Given the description of an element on the screen output the (x, y) to click on. 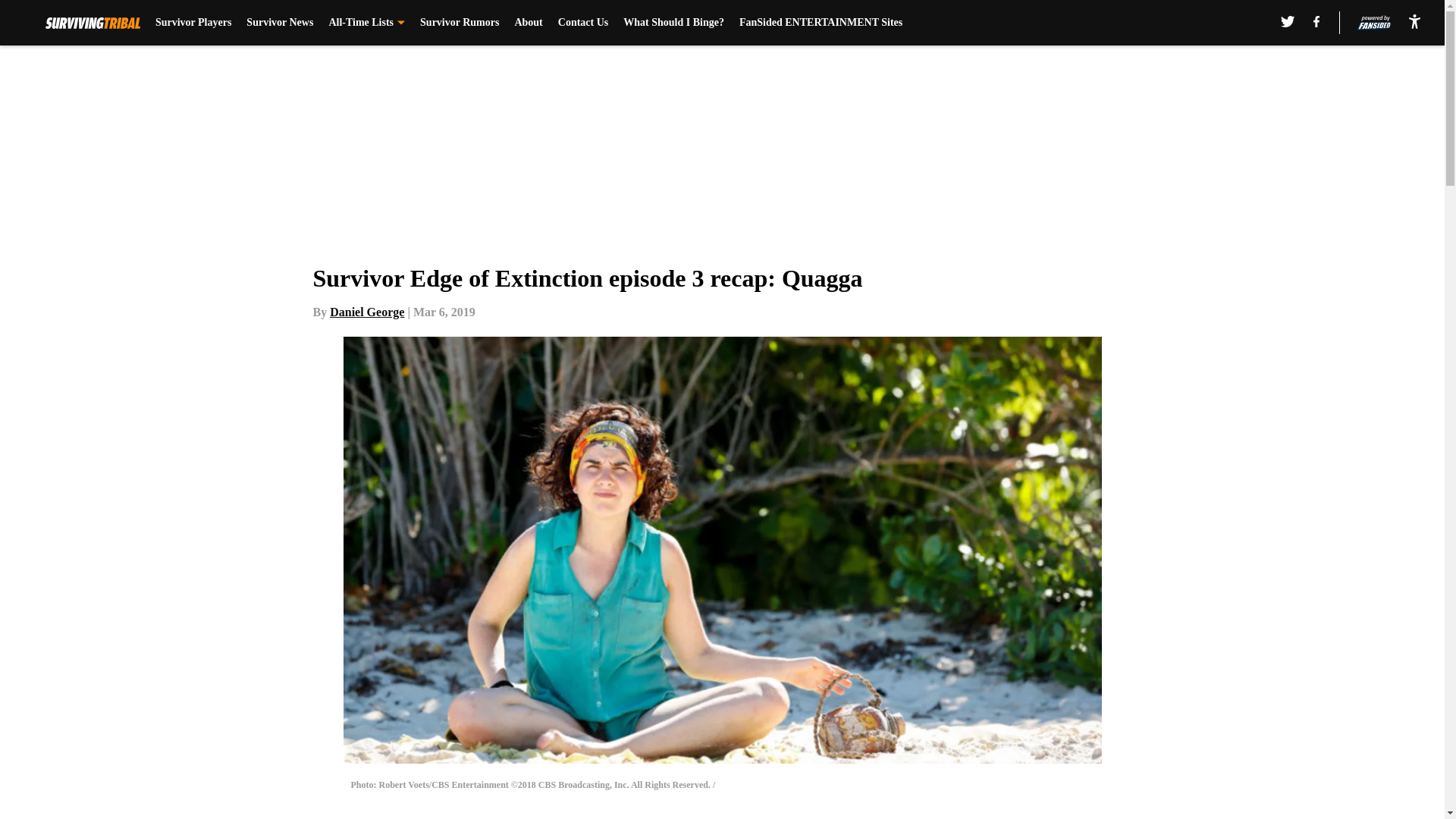
What Should I Binge? (673, 22)
Survivor News (279, 22)
About (527, 22)
Daniel George (367, 311)
Survivor Players (193, 22)
FanSided ENTERTAINMENT Sites (820, 22)
Contact Us (582, 22)
Survivor Rumors (459, 22)
